Given the description of an element on the screen output the (x, y) to click on. 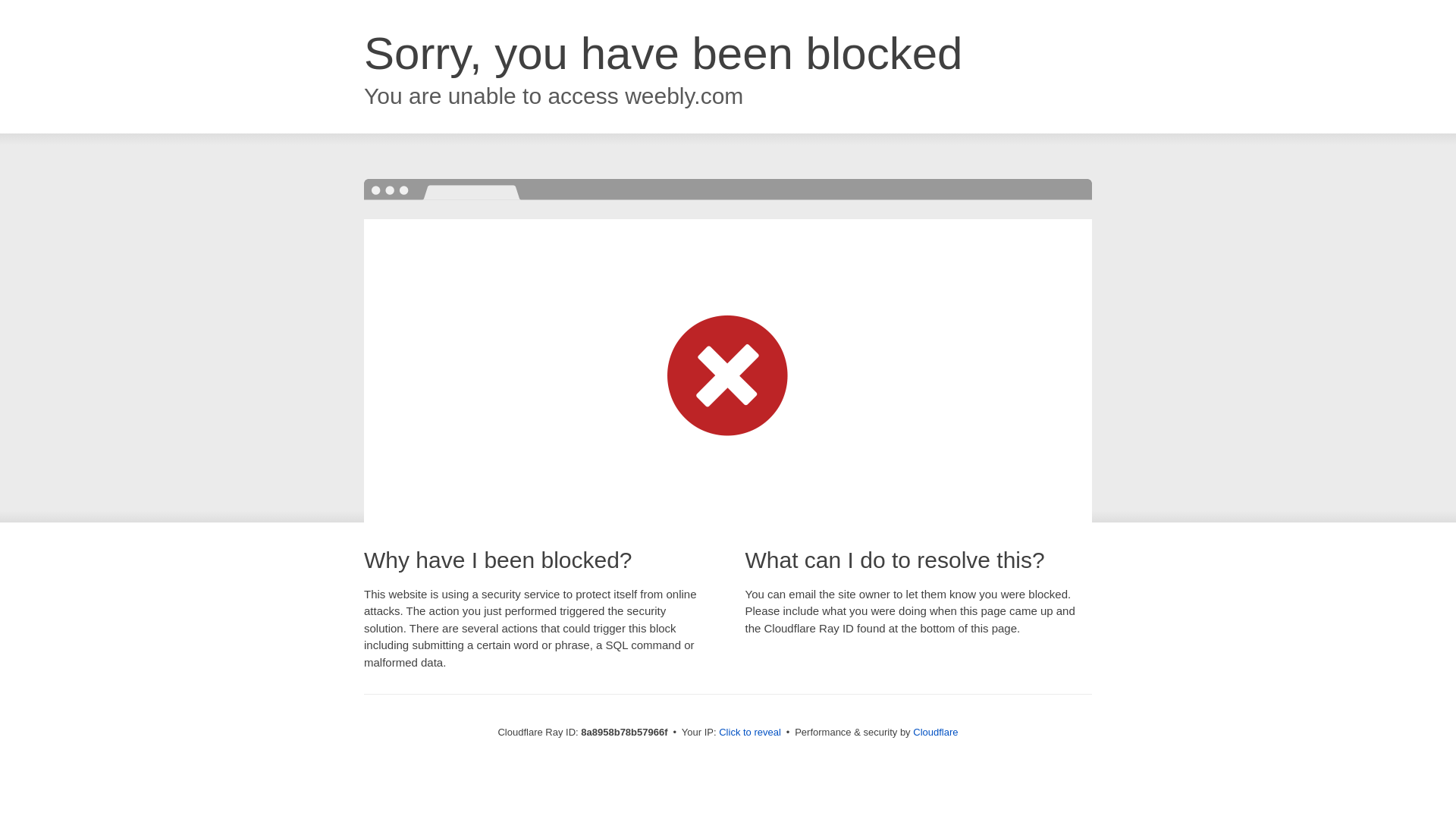
Click to reveal (749, 732)
Cloudflare (935, 731)
